Given the description of an element on the screen output the (x, y) to click on. 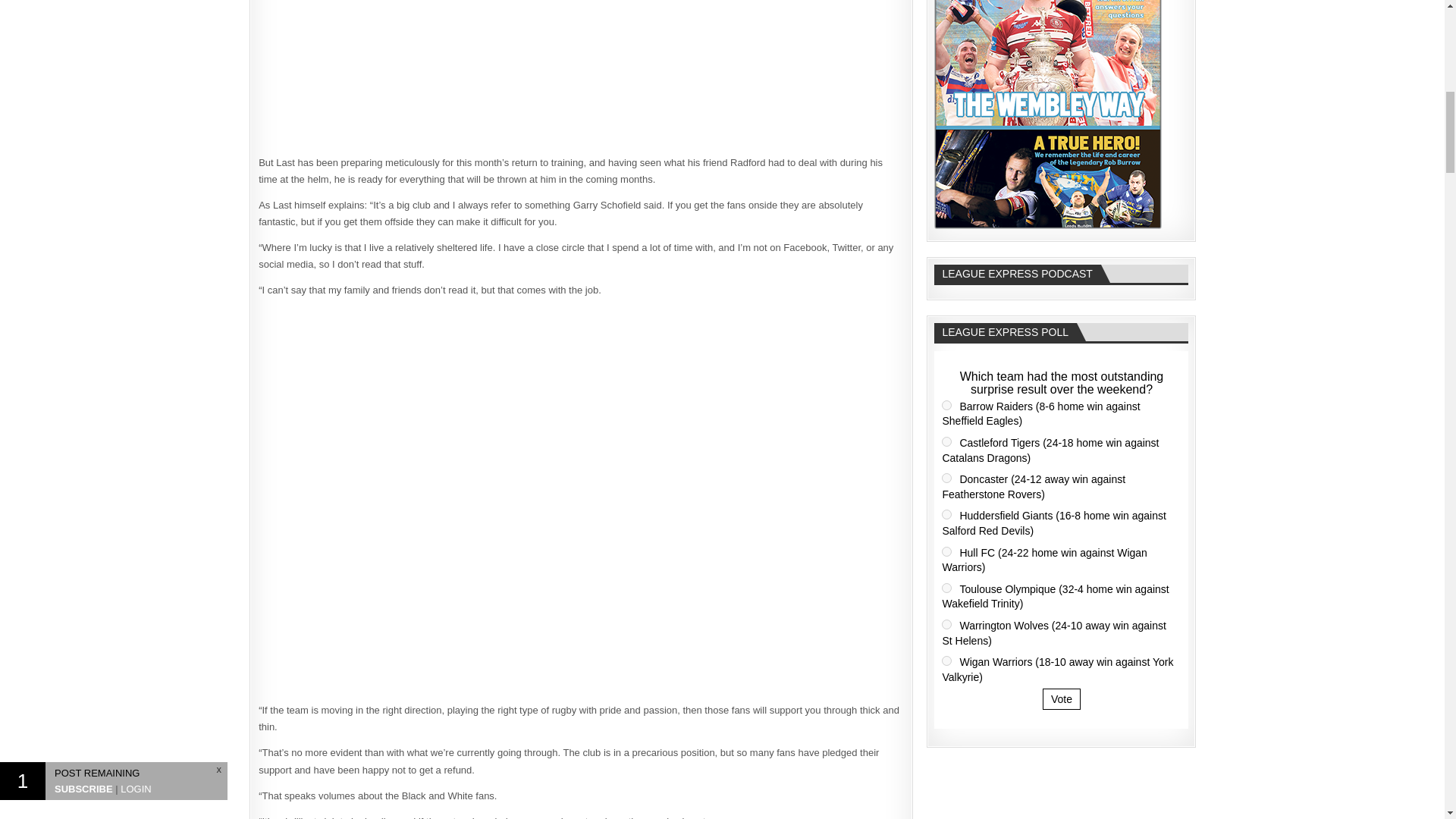
3503 (947, 478)
3507 (947, 624)
3506 (947, 587)
3505 (947, 551)
3502 (947, 441)
3508 (947, 660)
3501 (947, 405)
3504 (947, 514)
Vote (1061, 699)
